Given the description of an element on the screen output the (x, y) to click on. 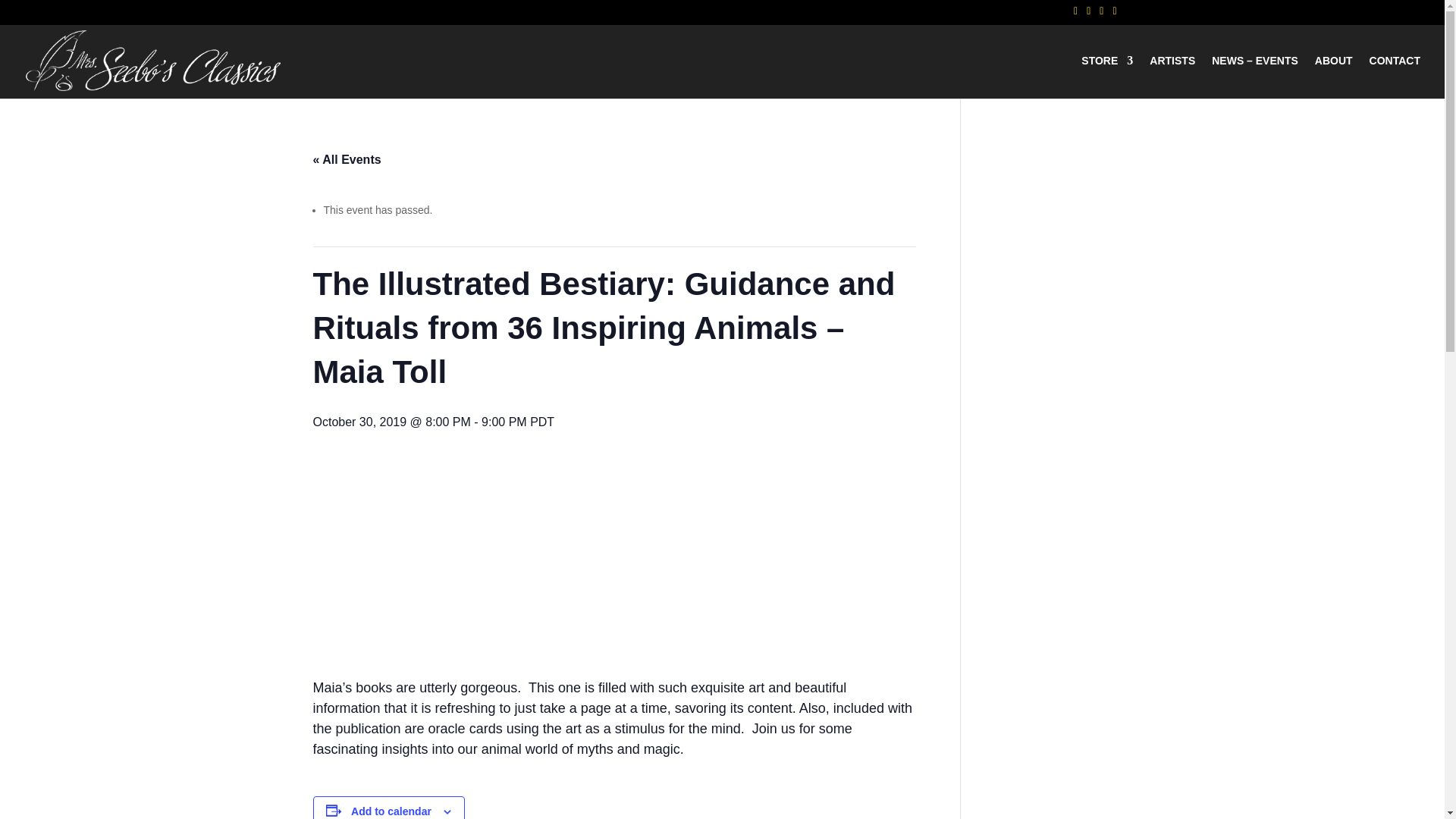
STORE (1106, 76)
CONTACT (1395, 76)
ARTISTS (1172, 76)
Add to calendar (390, 811)
